Given the description of an element on the screen output the (x, y) to click on. 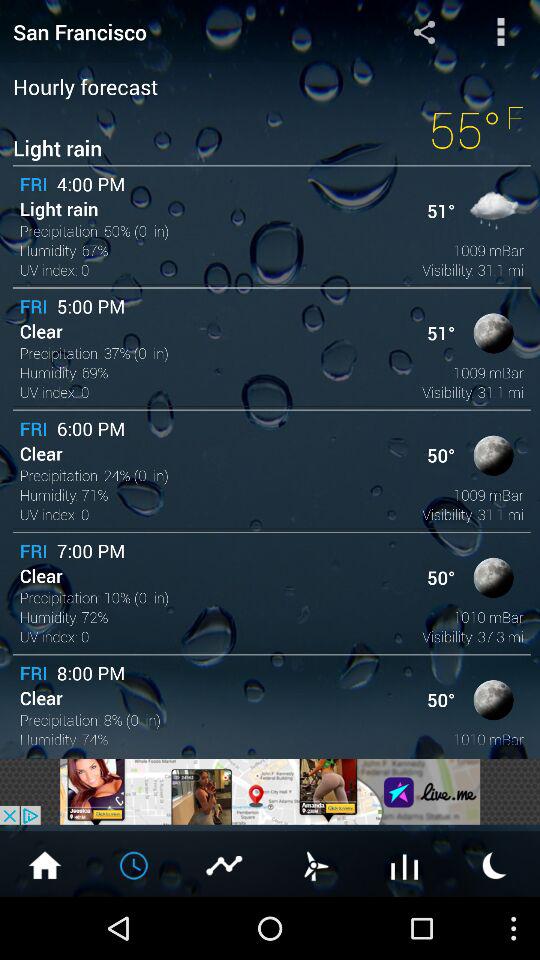
select trends (405, 864)
